Given the description of an element on the screen output the (x, y) to click on. 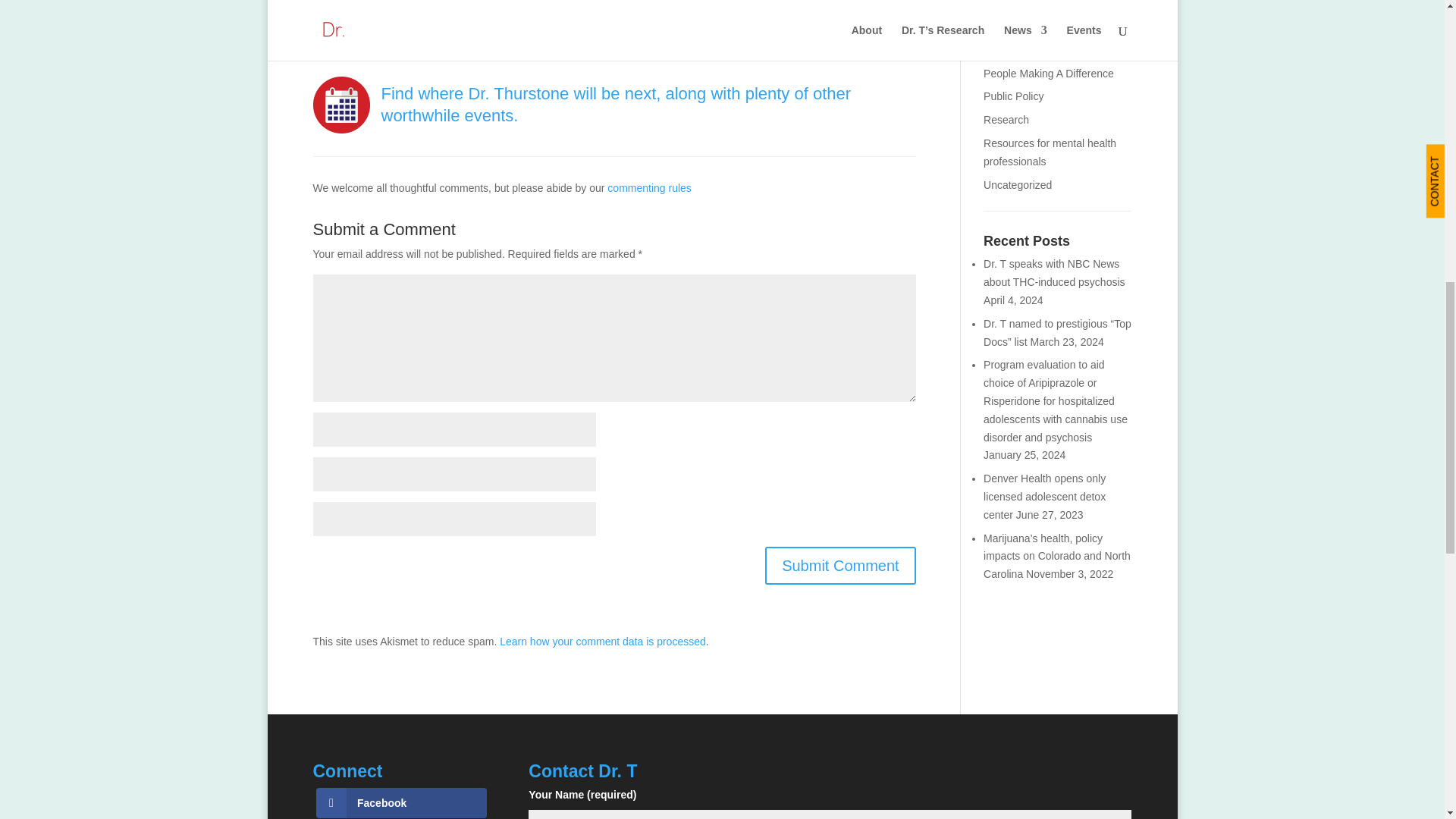
Opiate (999, 26)
View all posts by Christine Tatum (390, 20)
Submit Comment (840, 565)
Submit Comment (840, 565)
Website (496, 20)
Public Policy (1013, 96)
Military (1000, 4)
People Making A Difference (1048, 73)
Learn how your comment data is processed (602, 641)
Resources for mental health professionals (1050, 152)
Parenting (1006, 50)
commenting rules (649, 187)
Uncategorized (1017, 184)
Research (1006, 119)
